Given the description of an element on the screen output the (x, y) to click on. 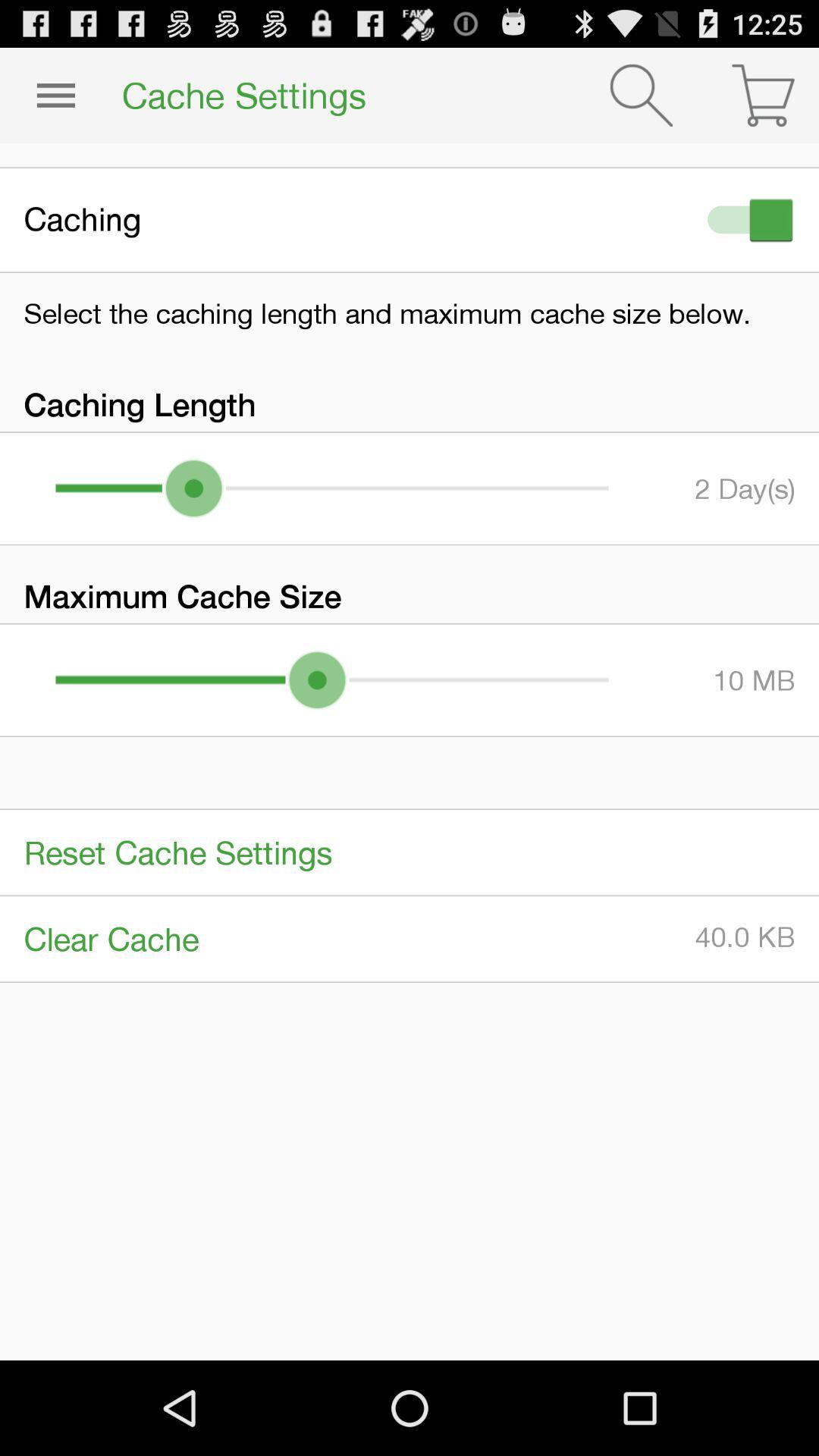
search (641, 95)
